Given the description of an element on the screen output the (x, y) to click on. 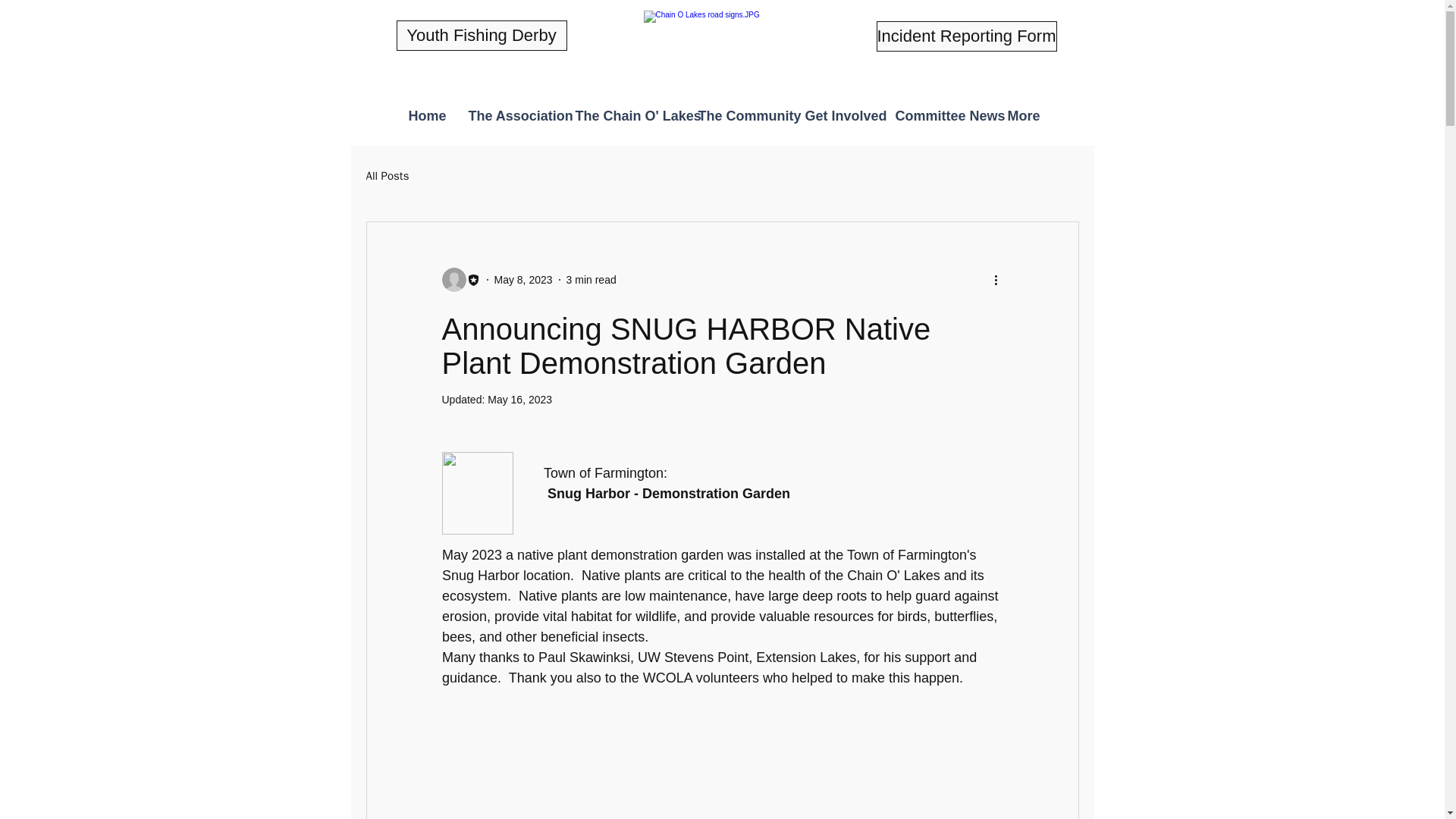
Committee News (939, 115)
The Community (740, 115)
Get Involved (838, 115)
May 8, 2023 (524, 278)
The Association (510, 115)
Home (427, 115)
The Chain O' Lakes (625, 115)
May 16, 2023 (519, 399)
3 min read (590, 278)
All Posts (387, 175)
Youth Fishing Derby (481, 35)
Incident Reporting Form (966, 36)
